Given the description of an element on the screen output the (x, y) to click on. 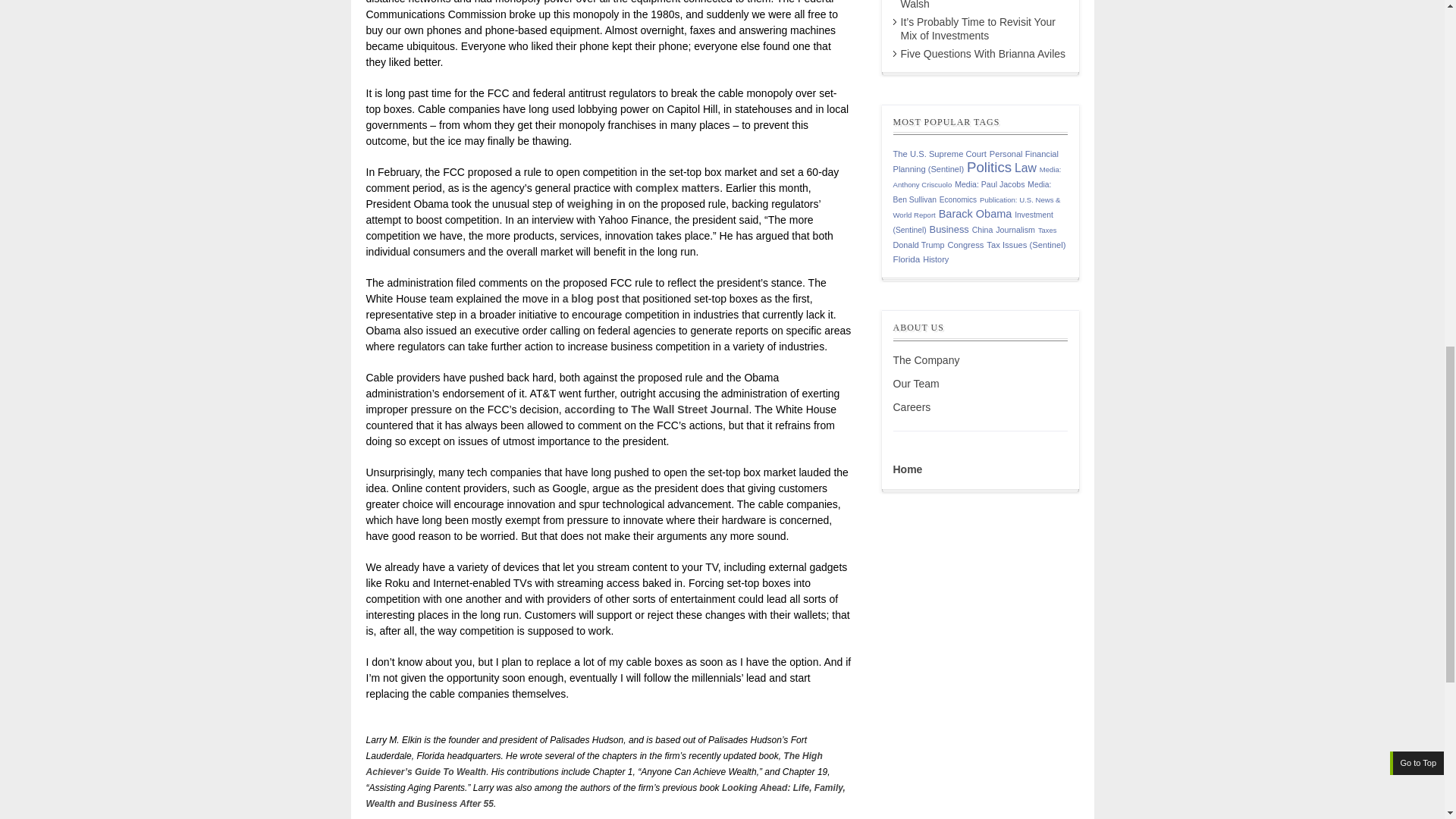
Looking Ahead: Life, Family, Wealth and Business After 55 (604, 795)
according to The Wall Street Journal (656, 409)
complex matters (676, 187)
weighing in (596, 203)
a blog post (591, 298)
